Given the description of an element on the screen output the (x, y) to click on. 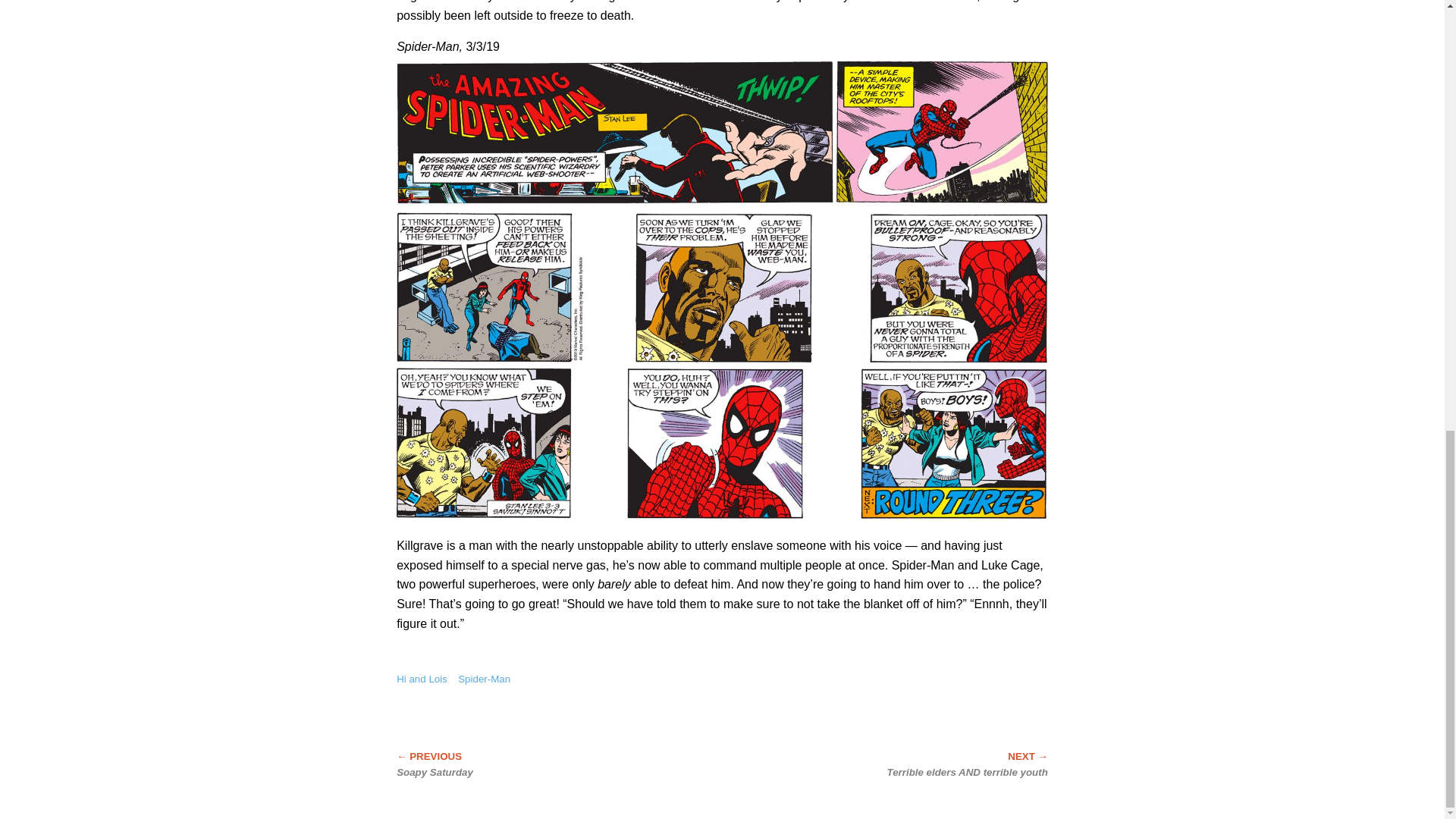
Terrible elders AND terrible youth (921, 764)
Soapy Saturday (522, 764)
Hi and Lois (421, 678)
Spider-Man (484, 678)
